Given the description of an element on the screen output the (x, y) to click on. 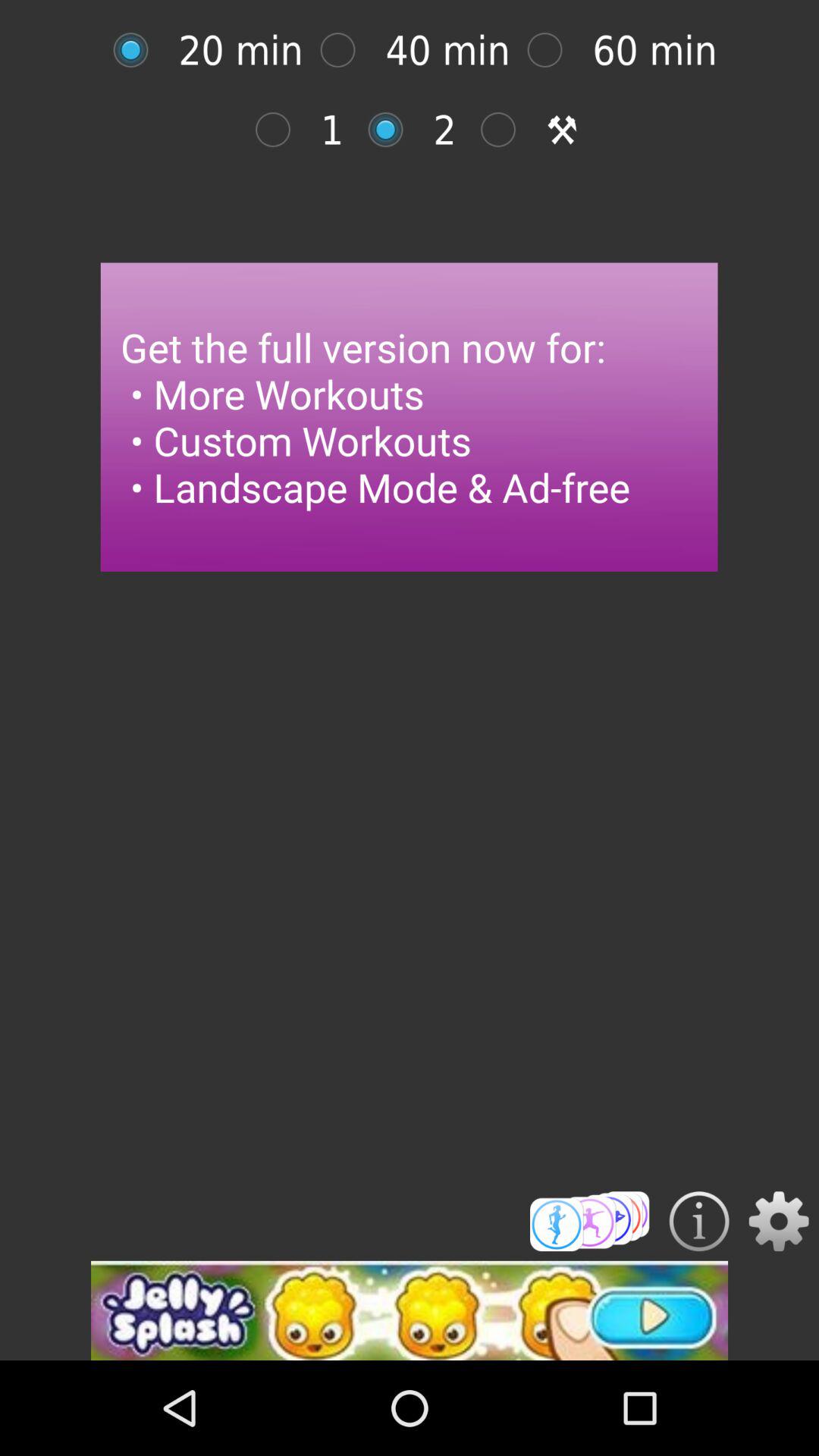
settings page (778, 1221)
